Given the description of an element on the screen output the (x, y) to click on. 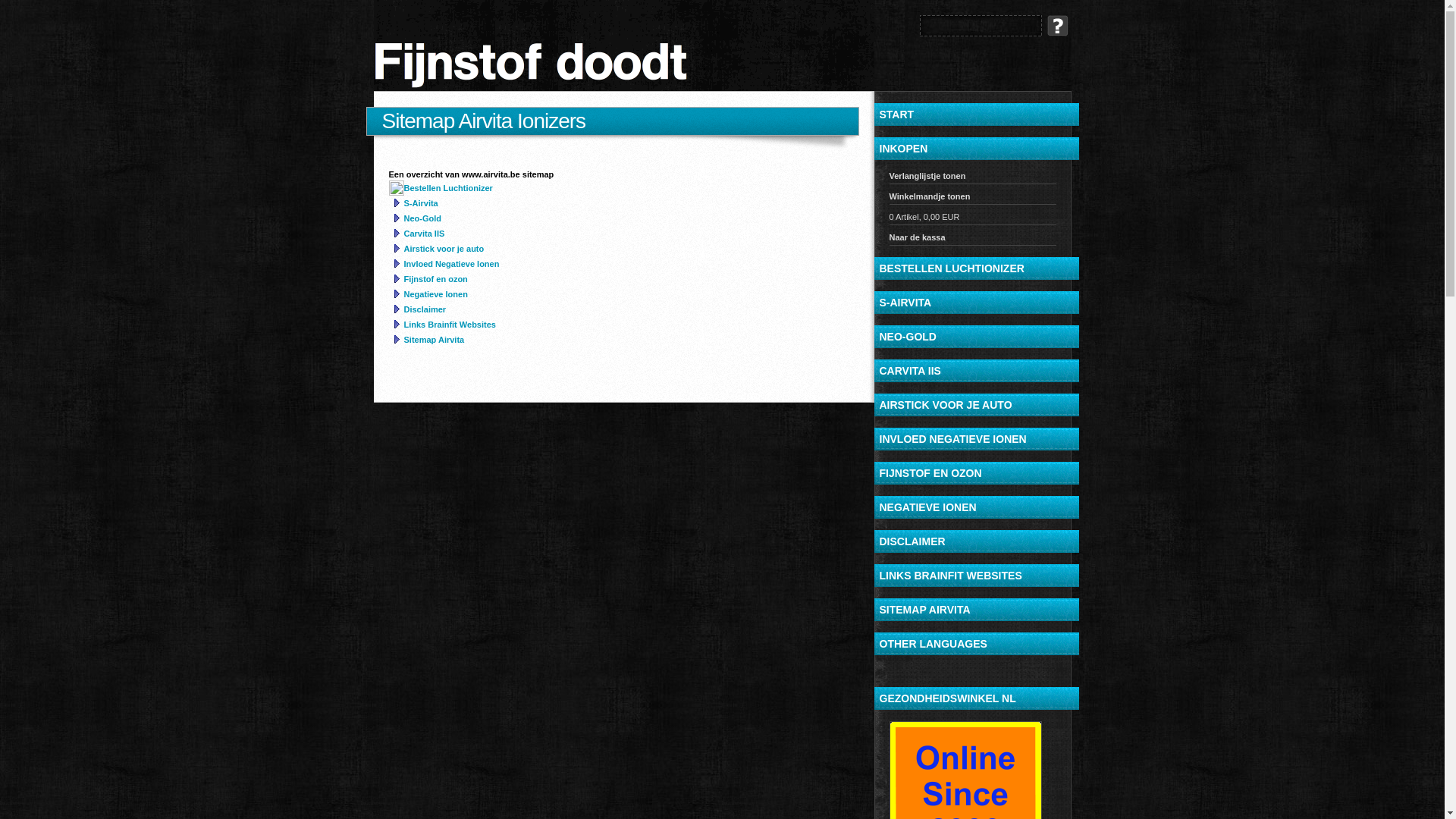
NEO-GOLD Element type: text (975, 336)
NEGATIEVE IONEN Element type: text (975, 506)
DISCLAIMER Element type: text (975, 541)
Carvita IIS Element type: text (423, 233)
Winkelmandje tonen Element type: text (971, 197)
S-AIRVITA Element type: text (975, 302)
Airstick voor je auto Element type: text (443, 248)
S-Airvita Element type: text (420, 202)
Bestellen Luchtionizer Element type: text (447, 187)
Negatieve Ionen Element type: text (435, 293)
Invloed Negatieve Ionen Element type: text (450, 263)
Disclaimer Element type: text (424, 308)
AIRSTICK VOOR JE AUTO Element type: text (975, 404)
START Element type: text (975, 114)
Verlanglijstje tonen Element type: text (971, 177)
CARVITA IIS Element type: text (975, 370)
Naar de kassa Element type: text (971, 238)
Links Brainfit Websites Element type: text (449, 324)
INVLOED NEGATIEVE IONEN Element type: text (975, 438)
SITEMAP AIRVITA Element type: text (975, 609)
LINKS BRAINFIT WEBSITES Element type: text (975, 575)
BESTELLEN LUCHTIONIZER Element type: text (975, 268)
Sitemap Airvita Element type: text (433, 339)
Fijnstof en ozon Element type: text (435, 278)
Neo-Gold Element type: text (422, 217)
FIJNSTOF EN OZON Element type: text (975, 472)
